Given the description of an element on the screen output the (x, y) to click on. 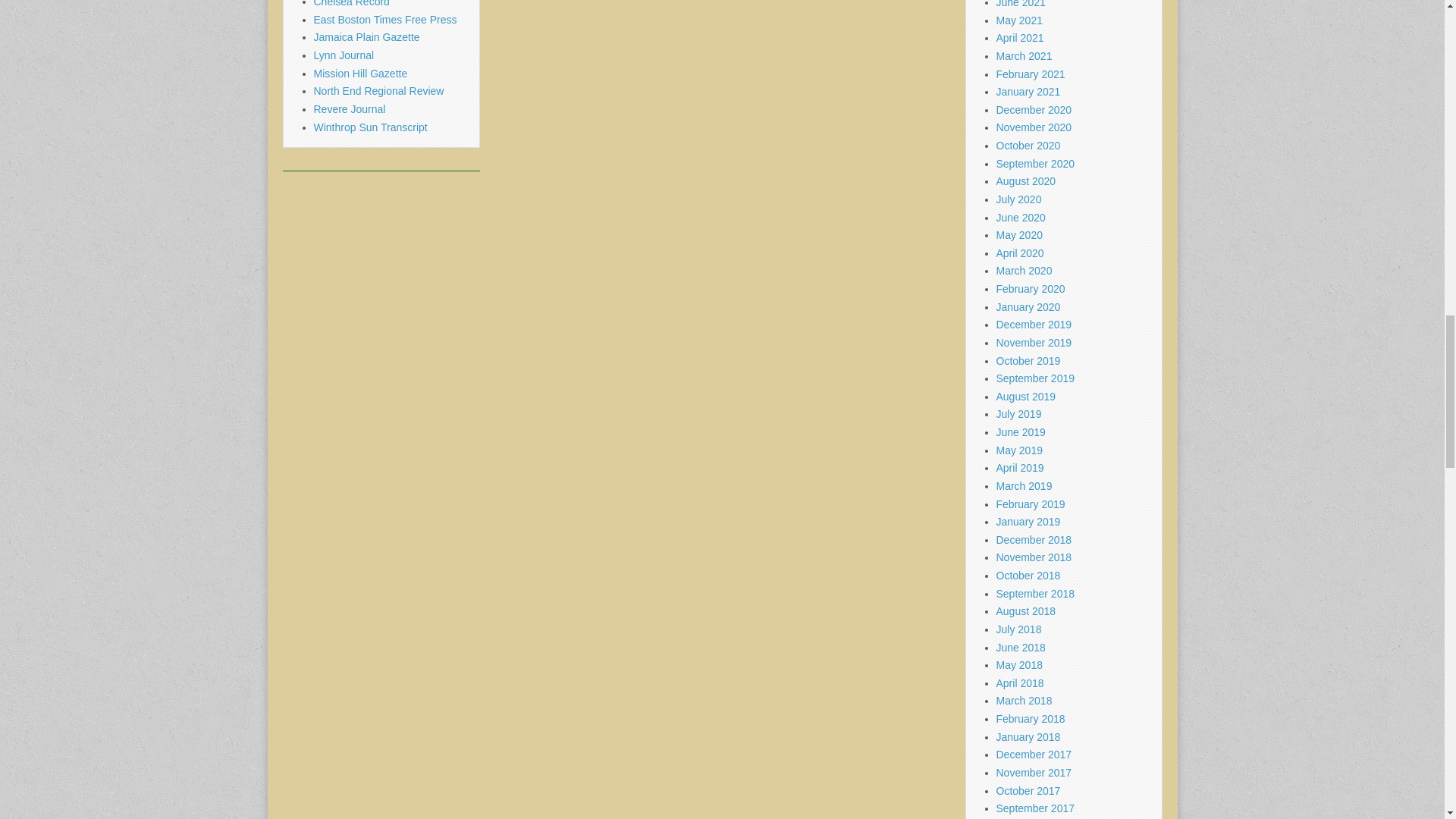
Chelsea Record (352, 3)
Lynn Journal (344, 55)
Jamaica Plain Gazette (367, 37)
East Boston Times Free Press (385, 19)
